Given the description of an element on the screen output the (x, y) to click on. 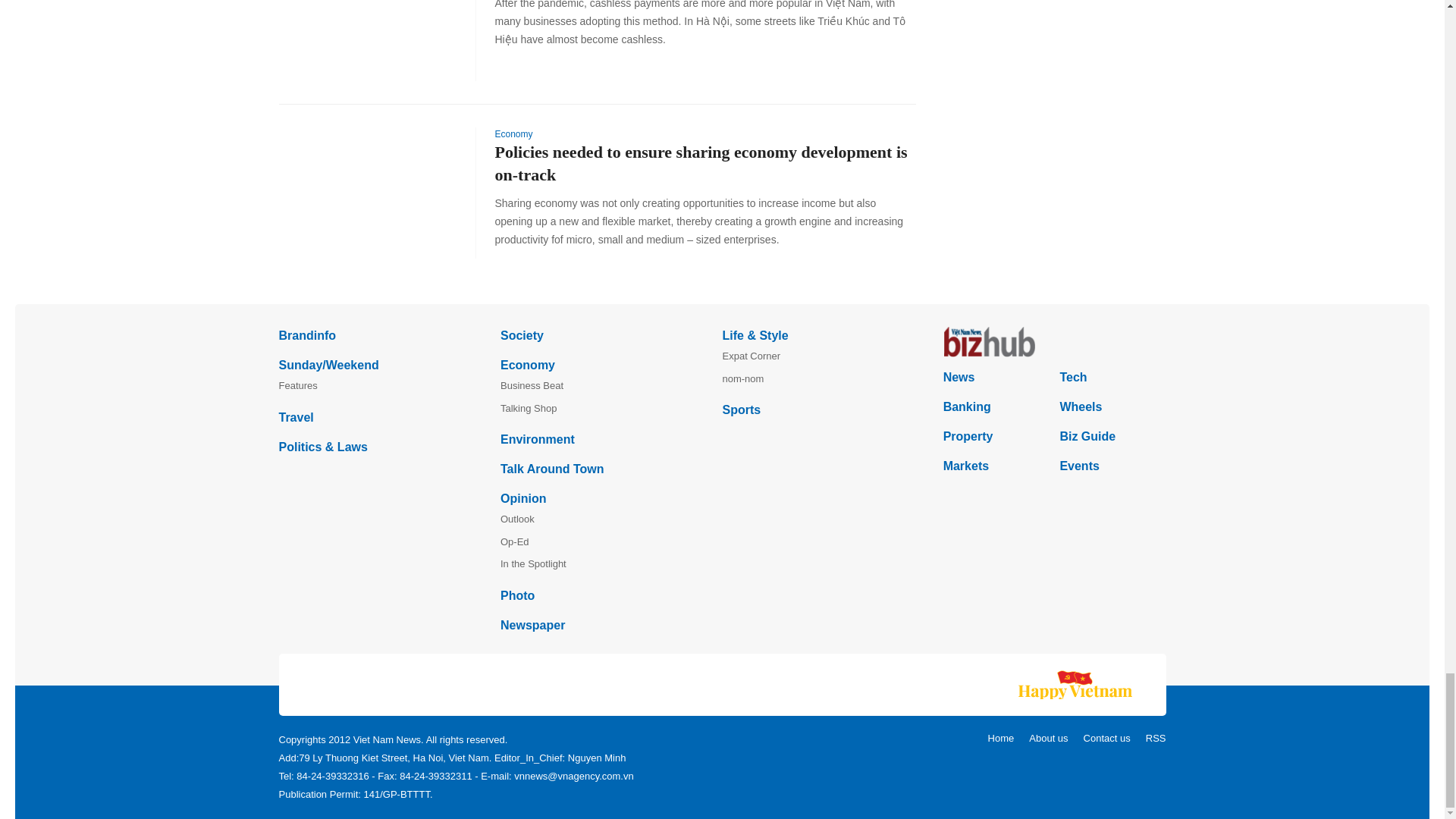
bizhub (1054, 341)
